Given the description of an element on the screen output the (x, y) to click on. 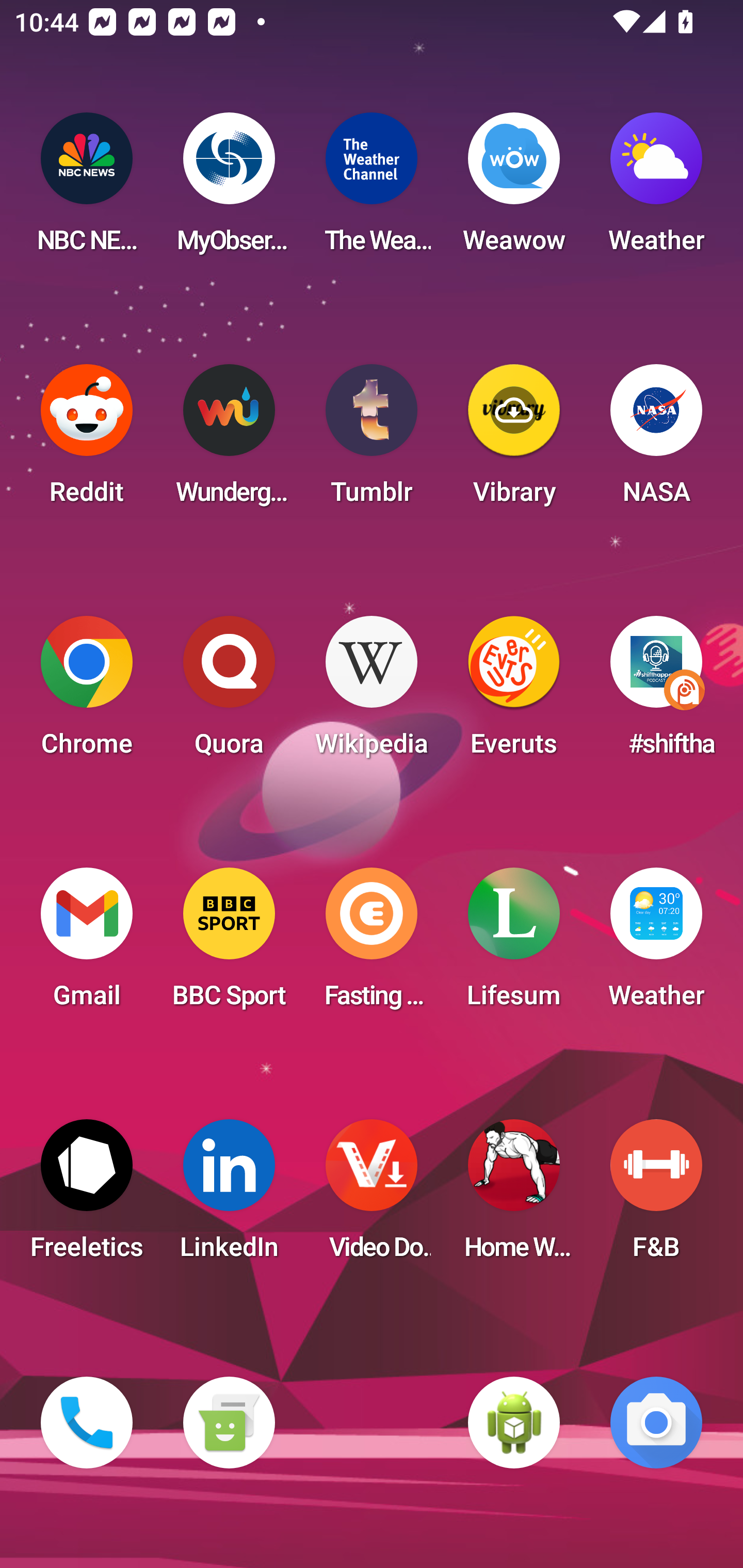
NBC NEWS (86, 188)
MyObservatory (228, 188)
The Weather Channel (371, 188)
Weawow (513, 188)
Weather (656, 188)
Reddit (86, 440)
Wunderground (228, 440)
Tumblr (371, 440)
Vibrary (513, 440)
NASA (656, 440)
Chrome (86, 692)
Quora (228, 692)
Wikipedia (371, 692)
Everuts (513, 692)
#shifthappens in the Digital Workplace Podcast (656, 692)
Gmail (86, 943)
BBC Sport (228, 943)
Fasting Coach (371, 943)
Lifesum (513, 943)
Weather (656, 943)
Freeletics (86, 1195)
LinkedIn (228, 1195)
Video Downloader & Ace Player (371, 1195)
Home Workout (513, 1195)
F&B (656, 1195)
Phone (86, 1422)
Messaging (228, 1422)
WebView Browser Tester (513, 1422)
Camera (656, 1422)
